Given the description of an element on the screen output the (x, y) to click on. 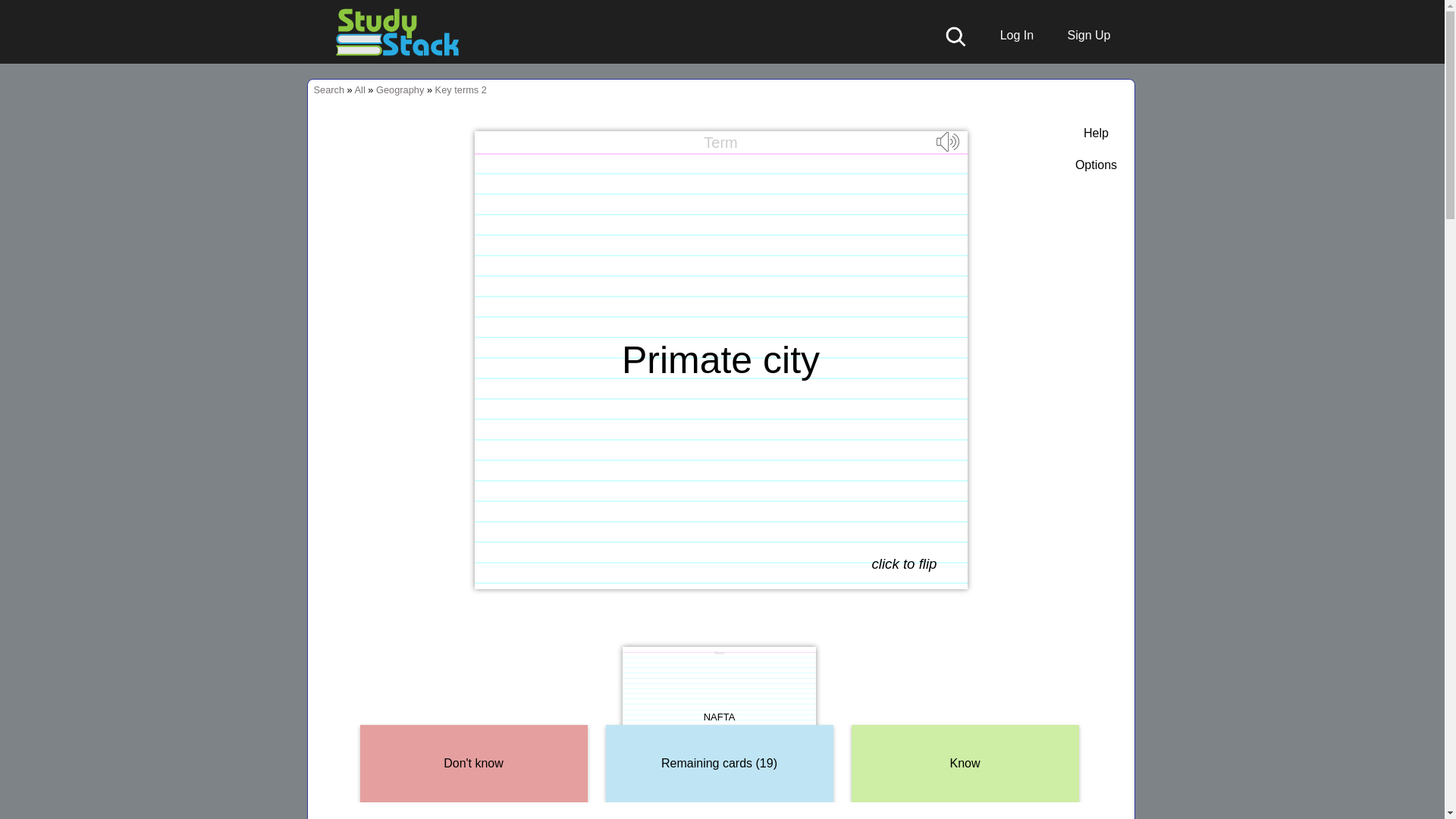
Geography (399, 89)
speak card (949, 149)
Show helpful tips (1096, 133)
Key terms 2 (460, 89)
Search (329, 89)
Click here or press left arrow if you do not know the card (472, 763)
Log In (1009, 35)
All (360, 89)
Sign Up (1081, 35)
Show options (1096, 165)
Click here or press right arrow if you know the card (964, 763)
